Given the description of an element on the screen output the (x, y) to click on. 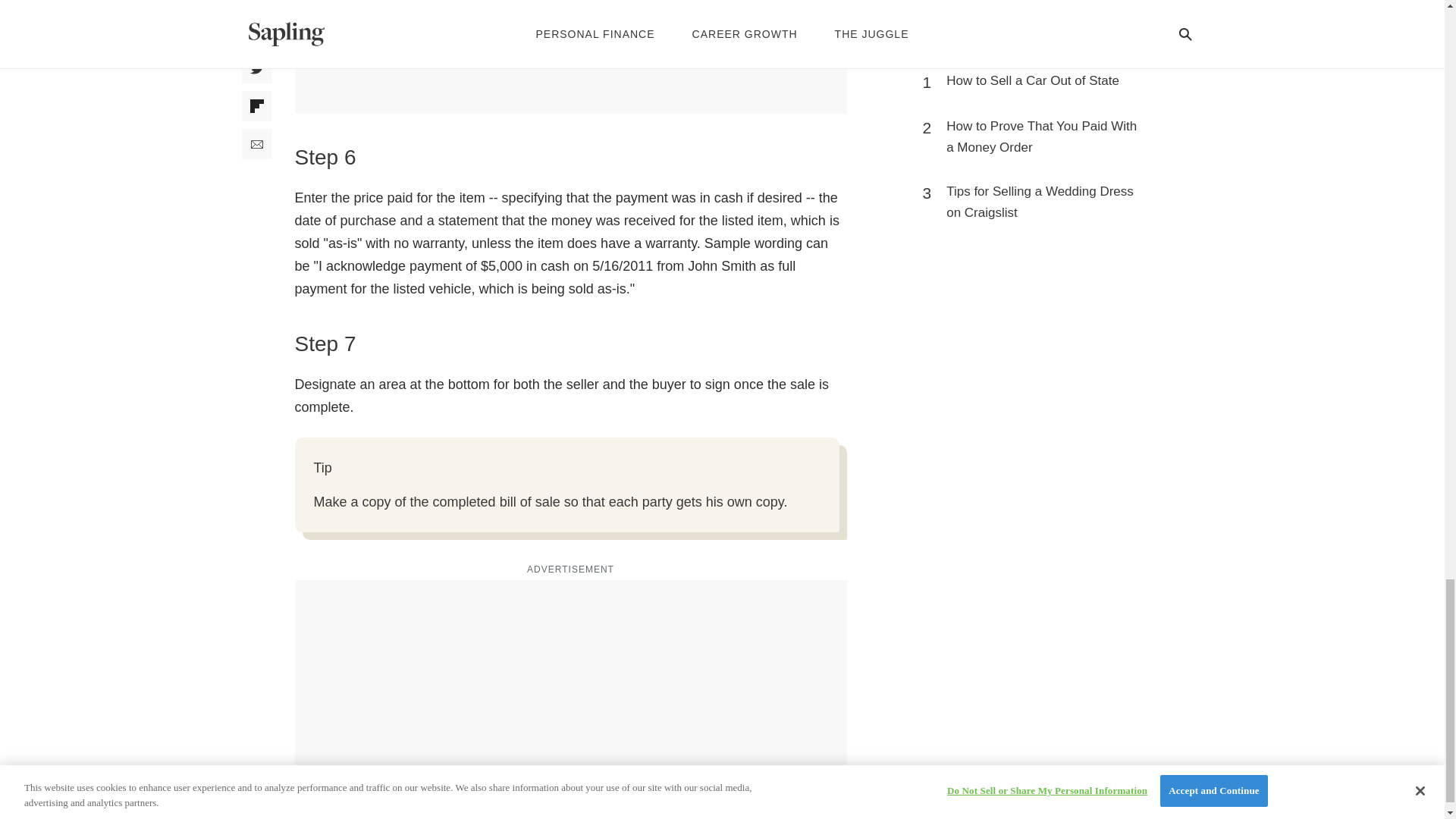
How to Sell a Car Out of State (1032, 80)
How to Prove That You Paid With a Money Order (1043, 137)
Tips for Selling a Wedding Dress on Craigslist (1043, 201)
